Given the description of an element on the screen output the (x, y) to click on. 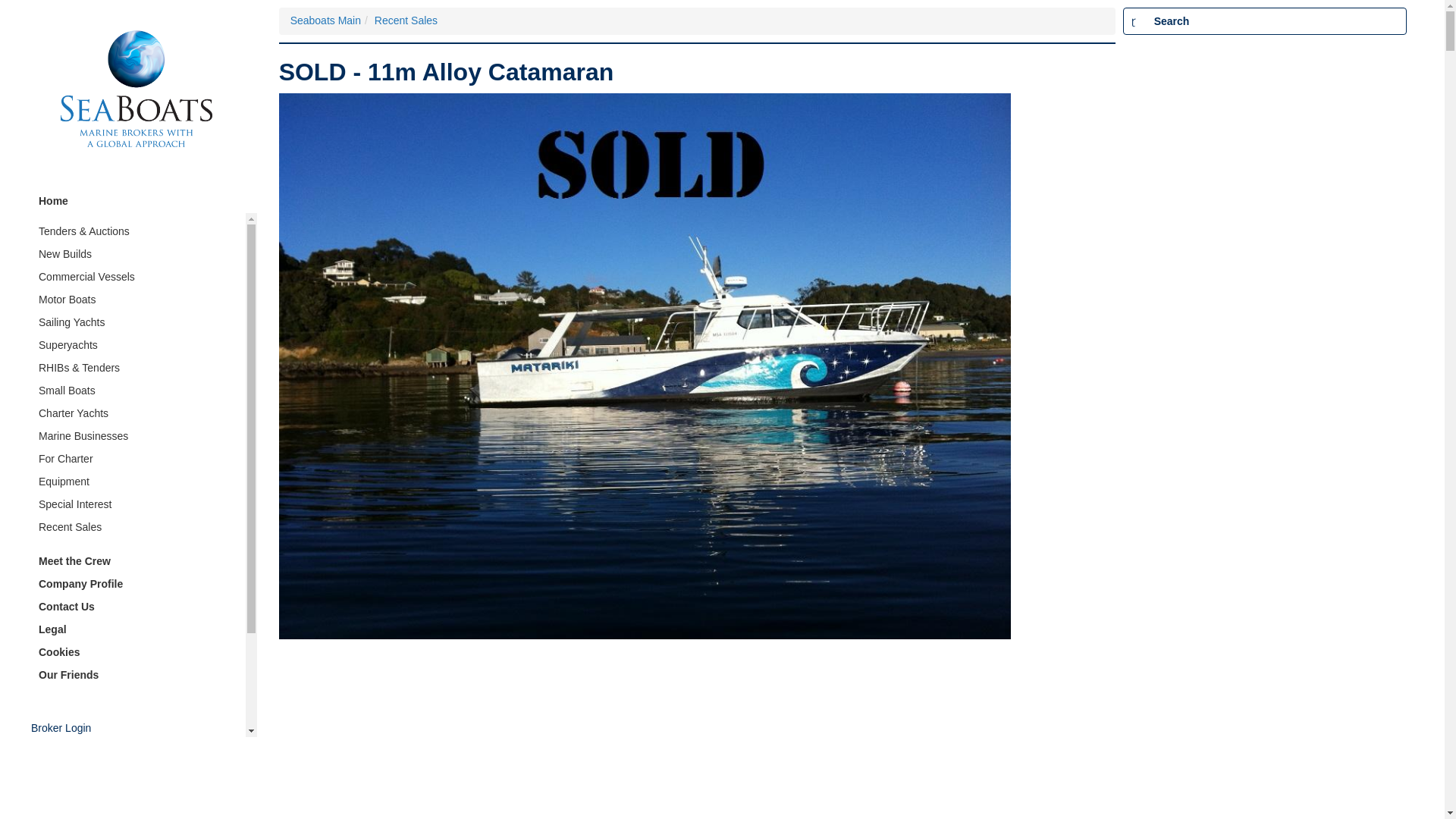
New Builds (138, 254)
New Builds (138, 254)
Home (138, 201)
